Given the description of an element on the screen output the (x, y) to click on. 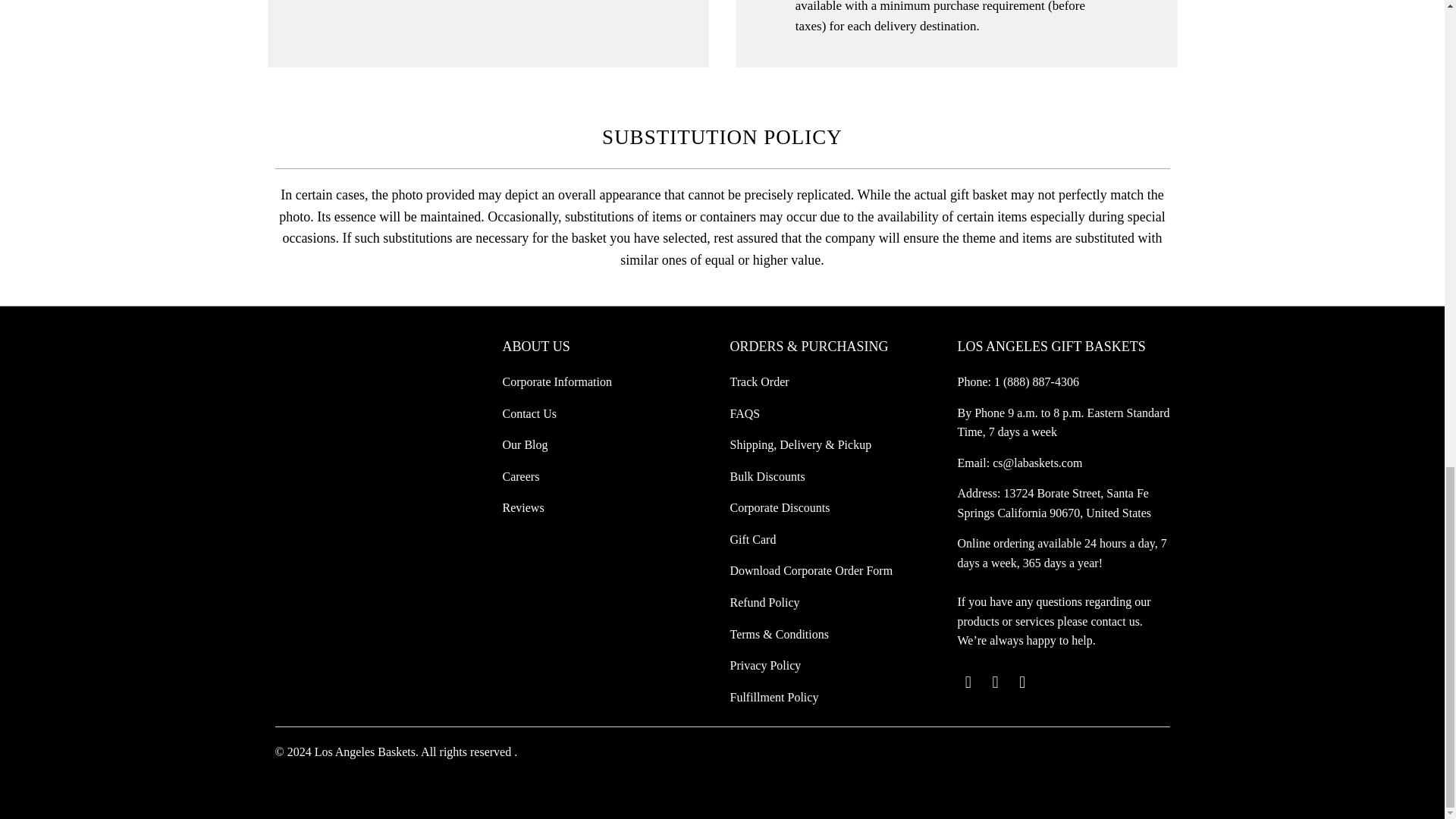
Los Angeles Baskets on Facebook (995, 682)
Los Angeles Baskets on Instagram (1022, 682)
Los Angeles Baskets on Twitter (967, 682)
